Given the description of an element on the screen output the (x, y) to click on. 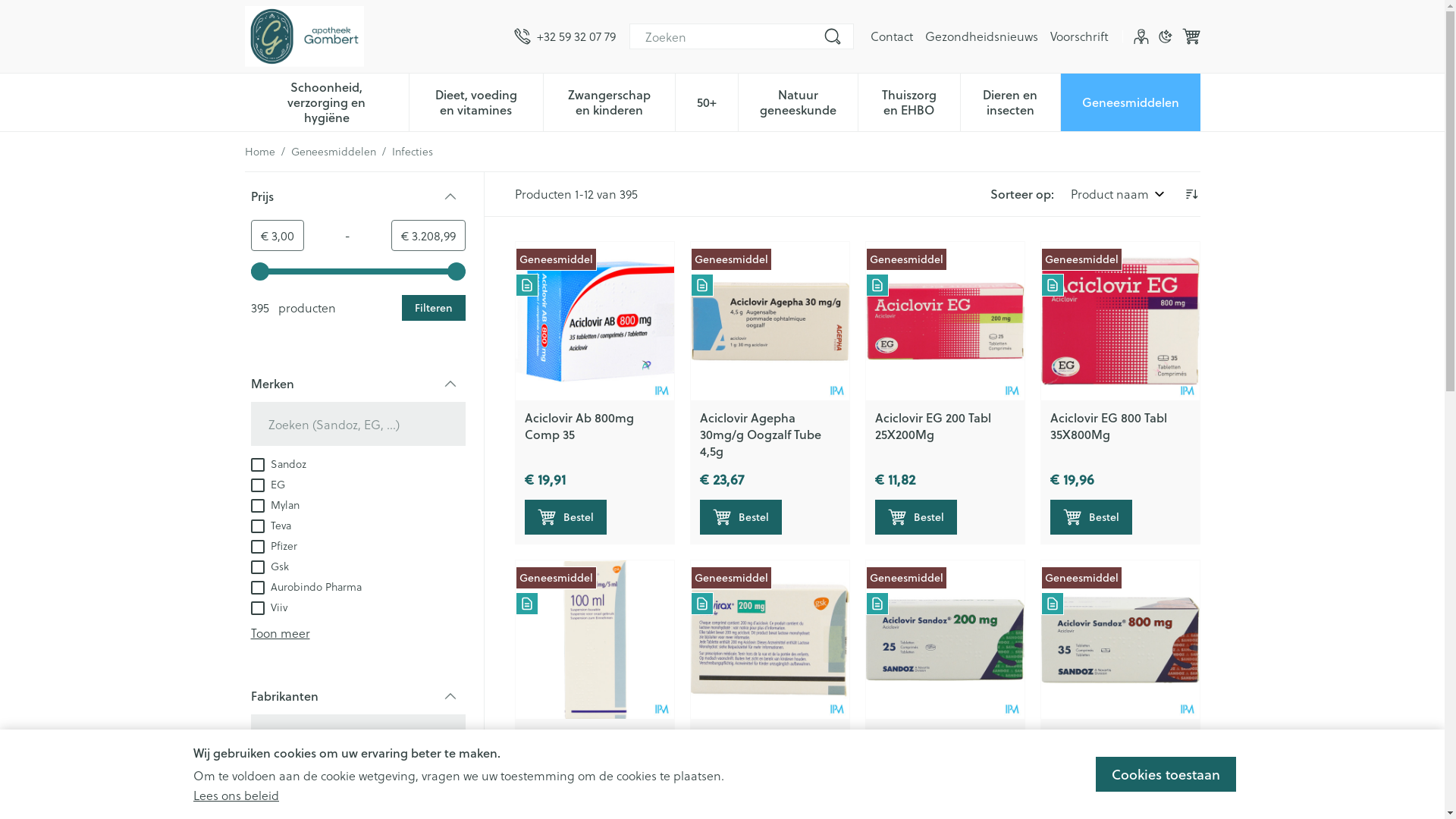
Cookies toestaan Element type: text (1165, 773)
Lees ons beleid Element type: text (236, 794)
Toon meer Element type: text (279, 632)
Aurobindo Pharma Element type: text (305, 585)
Pfizer Element type: text (273, 544)
Natuur geneeskunde Element type: text (797, 100)
Voorschrift Element type: text (1078, 35)
Thuiszorg en EHBO Element type: text (909, 100)
on Element type: text (256, 526)
+32 59 32 07 79 Element type: text (564, 36)
on Element type: text (256, 464)
Bestel Element type: text (916, 516)
Winkelwagen Element type: text (1190, 36)
Aciclovir Ab 800mg Comp 35 Element type: hover (594, 320)
Bestel Element type: text (565, 516)
Teva Element type: text (270, 524)
on Element type: text (256, 608)
Gezondheidsnieuws Element type: text (981, 35)
Mylan Element type: text (274, 503)
50+ Element type: text (706, 100)
Bestel Element type: text (740, 516)
Viiv Element type: text (268, 606)
Aciclovir Sandoz Comp 25x200mg Element type: text (940, 744)
Aciclovir Agepha 30mg/g Oogzalf Tube 4,5g Element type: hover (769, 320)
Aflopende richting instellen Element type: hover (1190, 193)
Bestel Element type: text (1090, 516)
EG Generics & Consumer Element type: text (321, 795)
Aciclovir Gsk Susp 100ml 400mg/5ml Element type: hover (594, 639)
Contact Element type: text (891, 35)
Apotheek Gombert Element type: hover (303, 36)
on Element type: text (256, 587)
Aciclovir EG 200      Tabl 25X200Mg Element type: hover (945, 320)
Aciclovir Gsk Tabl 25x200mg Element type: text (748, 744)
Dieet, voeding en vitamines Element type: text (475, 100)
on Element type: text (256, 485)
Aciclovir Agepha 30mg/g Oogzalf Tube 4,5g Element type: text (759, 433)
Geneesmiddelen Element type: text (333, 151)
Aciclovir Ab 800mg Comp 35 Element type: text (578, 425)
Aciclovir Gsk Tabl 25x200mg Element type: hover (769, 639)
Zoeken Element type: text (832, 36)
on Element type: text (256, 546)
on Element type: text (256, 797)
Aciclovir Sandoz Comp 35x800mg Element type: hover (1119, 639)
on Element type: text (256, 777)
Aciclovir Sandoz Comp 25x200mg Element type: hover (945, 639)
Aciclovir EG 800      Tabl 35X800Mg Element type: hover (1119, 320)
Zwangerschap en kinderen Element type: text (608, 100)
EG Element type: text (267, 483)
Donkere modus Element type: text (1164, 35)
Apotheek Gombert Element type: hover (372, 36)
Aciclovir Gsk Susp 100ml 400mg/5ml Element type: text (593, 744)
on Element type: text (256, 505)
Aciclovir EG 800 Tabl 35X800Mg Element type: text (1107, 425)
Aciclovir EG 200 Tabl 25X200Mg Element type: text (933, 425)
on Element type: text (256, 567)
Geneesmiddelen Element type: text (1130, 100)
Klant menu Element type: text (1140, 35)
Sandoz Element type: text (277, 775)
Aciclovir Sandoz Comp 35x800mg Element type: text (1114, 744)
Sandoz Element type: text (277, 462)
Home Element type: text (259, 151)
Filteren Element type: text (433, 307)
Gsk Element type: text (269, 565)
Dieren en insecten Element type: text (1010, 100)
